Given the description of an element on the screen output the (x, y) to click on. 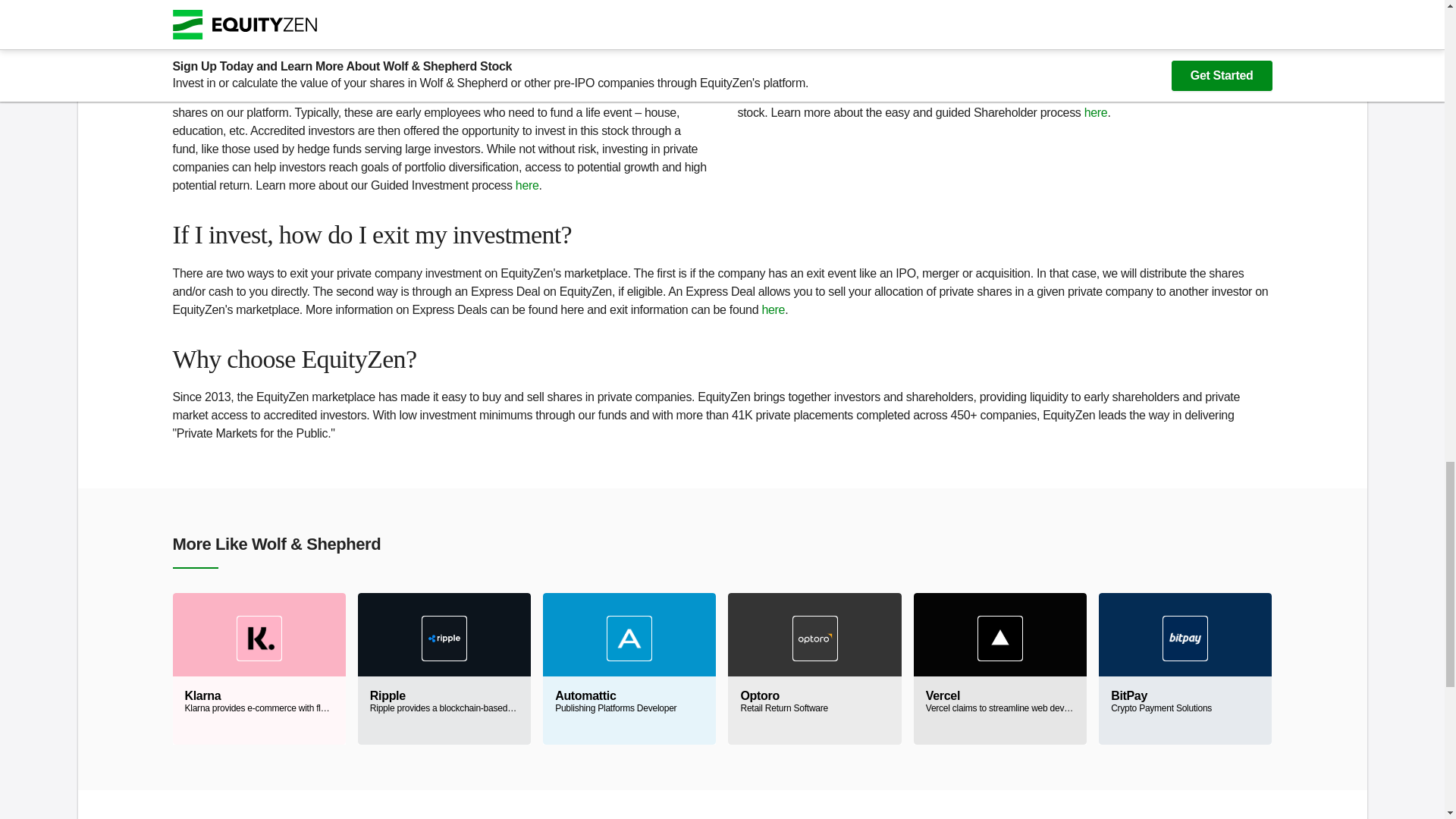
here (772, 309)
here (1185, 668)
here (1096, 112)
